Given the description of an element on the screen output the (x, y) to click on. 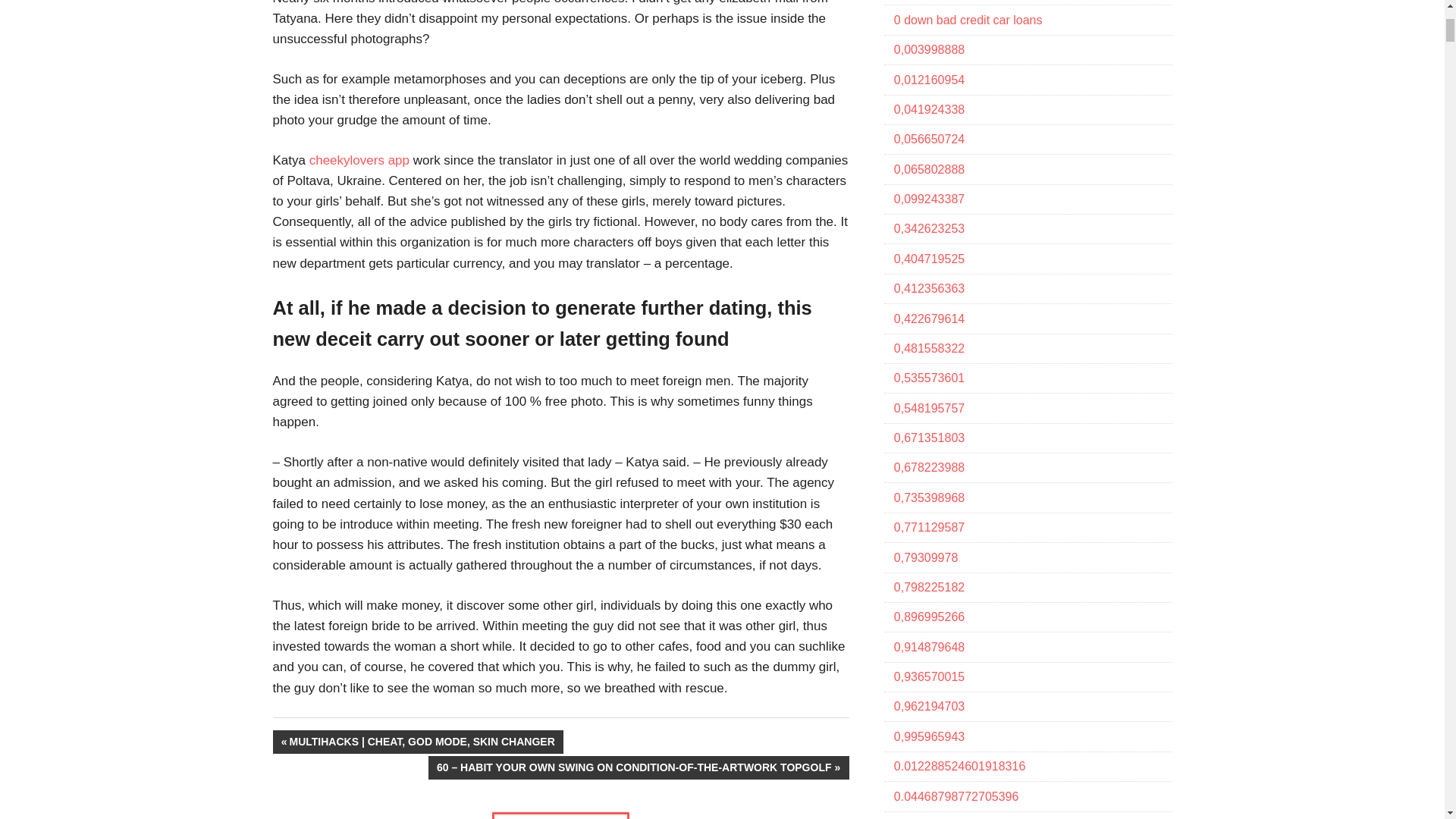
0,535573601 (928, 377)
0,481558322 (928, 348)
0,012160954 (928, 79)
0,099243387 (928, 198)
0,548195757 (928, 408)
0,671351803 (928, 437)
0 down bad credit car loans (967, 19)
0,342623253 (928, 228)
0,003998888 (928, 49)
0,422679614 (928, 318)
